Given the description of an element on the screen output the (x, y) to click on. 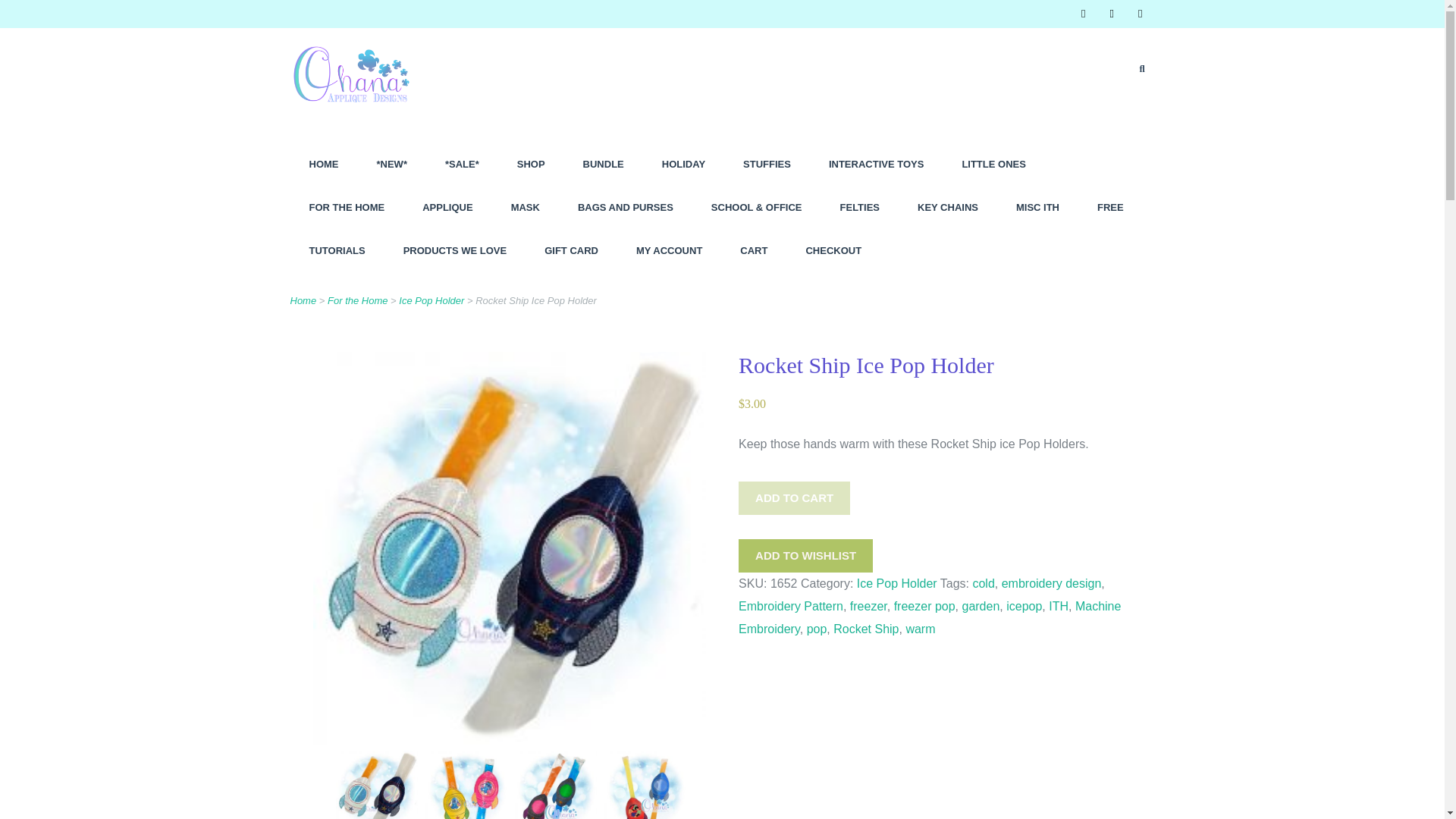
instagram (1111, 13)
Rocketship IPH SL 80072 (465, 785)
Rocket Ship Ice Pop Holder (375, 785)
SHOP (530, 163)
HOME (322, 163)
BUNDLE (603, 163)
HOLIDAY (683, 163)
Ohana Applique Designs (356, 132)
pinterest (1139, 13)
Rocketship IPH ASH 80072 (644, 785)
facebook (1082, 13)
